Given the description of an element on the screen output the (x, y) to click on. 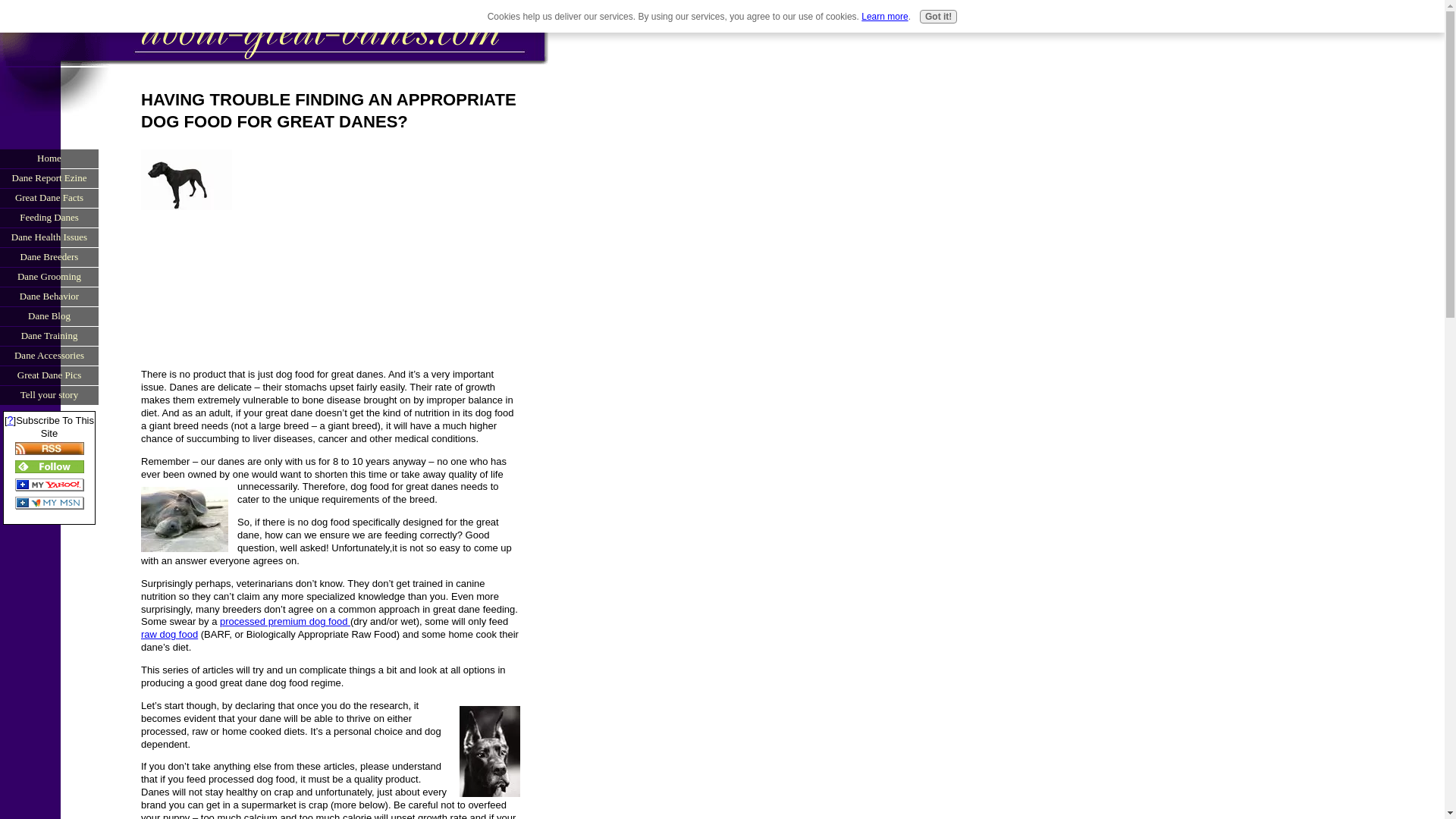
Dane Health Issues (49, 237)
tired great dane (184, 519)
Great Dane Facts (49, 198)
great dane dog food (186, 179)
Dane Report Ezine (49, 178)
Home (49, 158)
Dane Training (49, 335)
Feeding Danes (49, 217)
Dane Blog (49, 315)
processed premium dog food (284, 621)
Dane Behavior (49, 296)
Dane Accessories (49, 355)
Dane Grooming (49, 276)
Great Dane Pics (49, 374)
Learn more (884, 16)
